Given the description of an element on the screen output the (x, y) to click on. 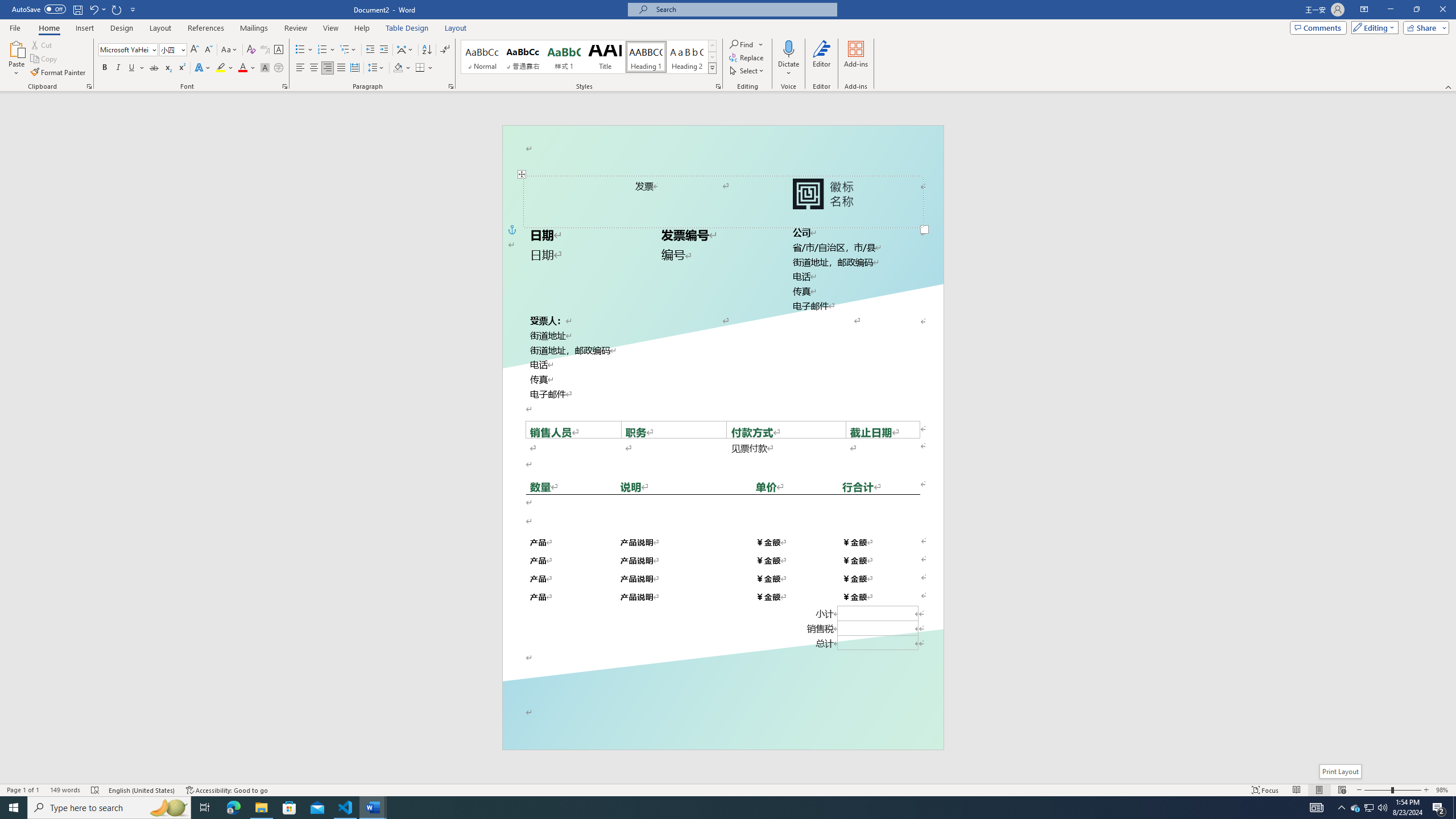
Shading (402, 67)
Table Design (407, 28)
Select (747, 69)
Accessibility Checker Accessibility: Good to go (227, 790)
Italic (118, 67)
Superscript (180, 67)
Row Down (711, 56)
Open (182, 49)
Replace... (747, 56)
